Given the description of an element on the screen output the (x, y) to click on. 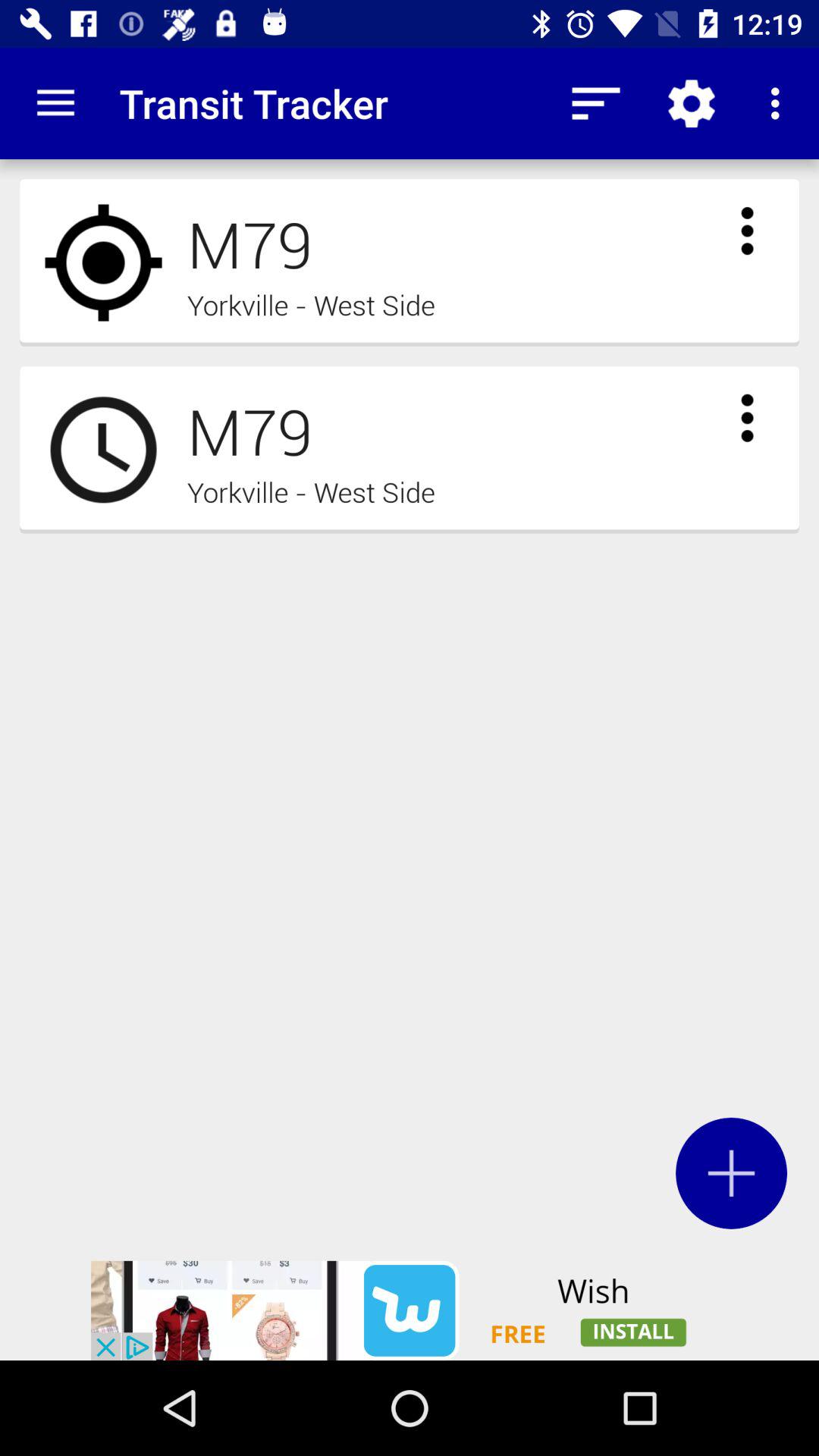
to view options (747, 230)
